Given the description of an element on the screen output the (x, y) to click on. 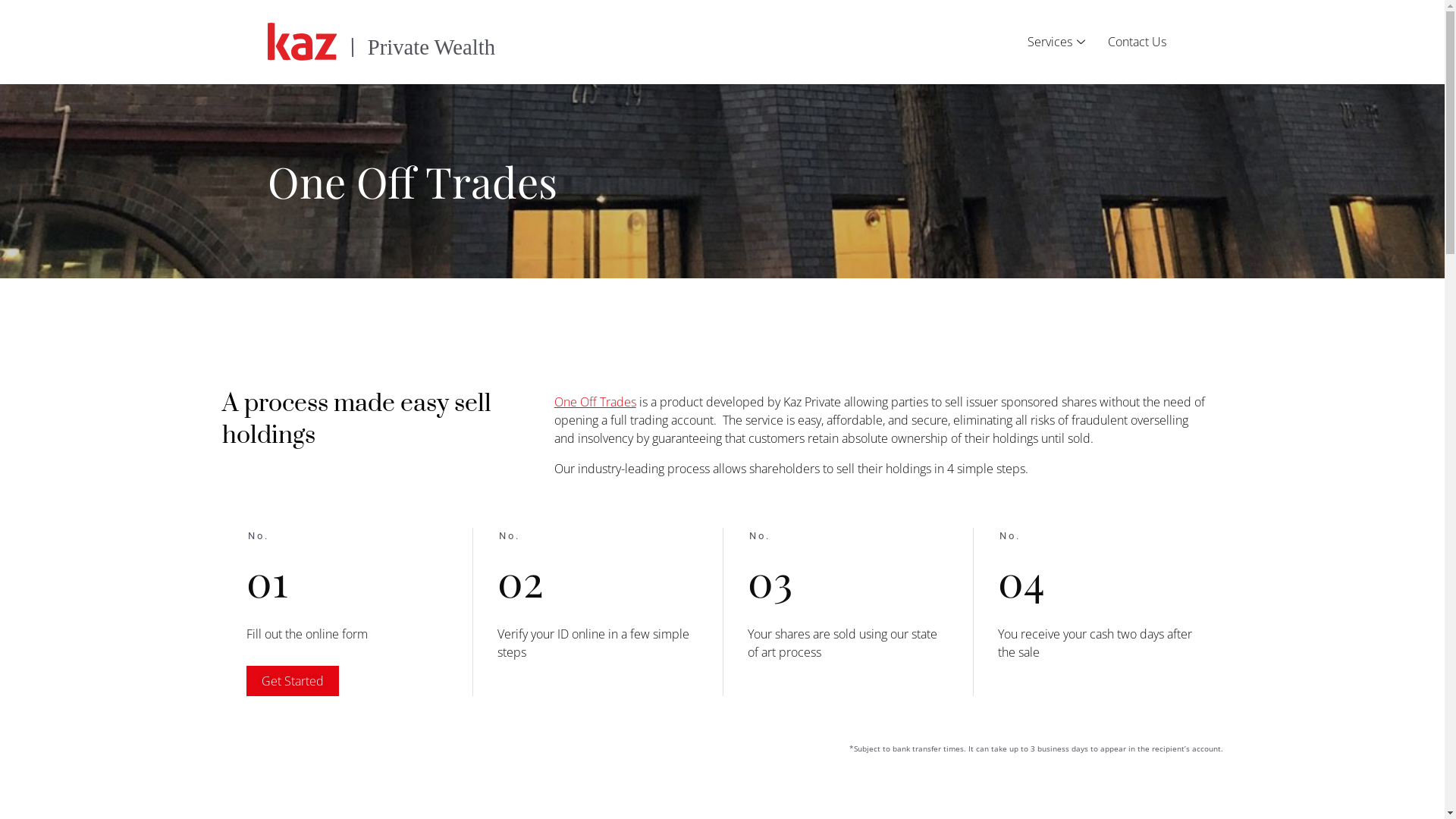
Services Element type: text (1056, 41)
Contact Us Element type: text (1136, 41)
One Off Trades Element type: text (595, 401)
Get Started Element type: text (291, 680)
